Given the description of an element on the screen output the (x, y) to click on. 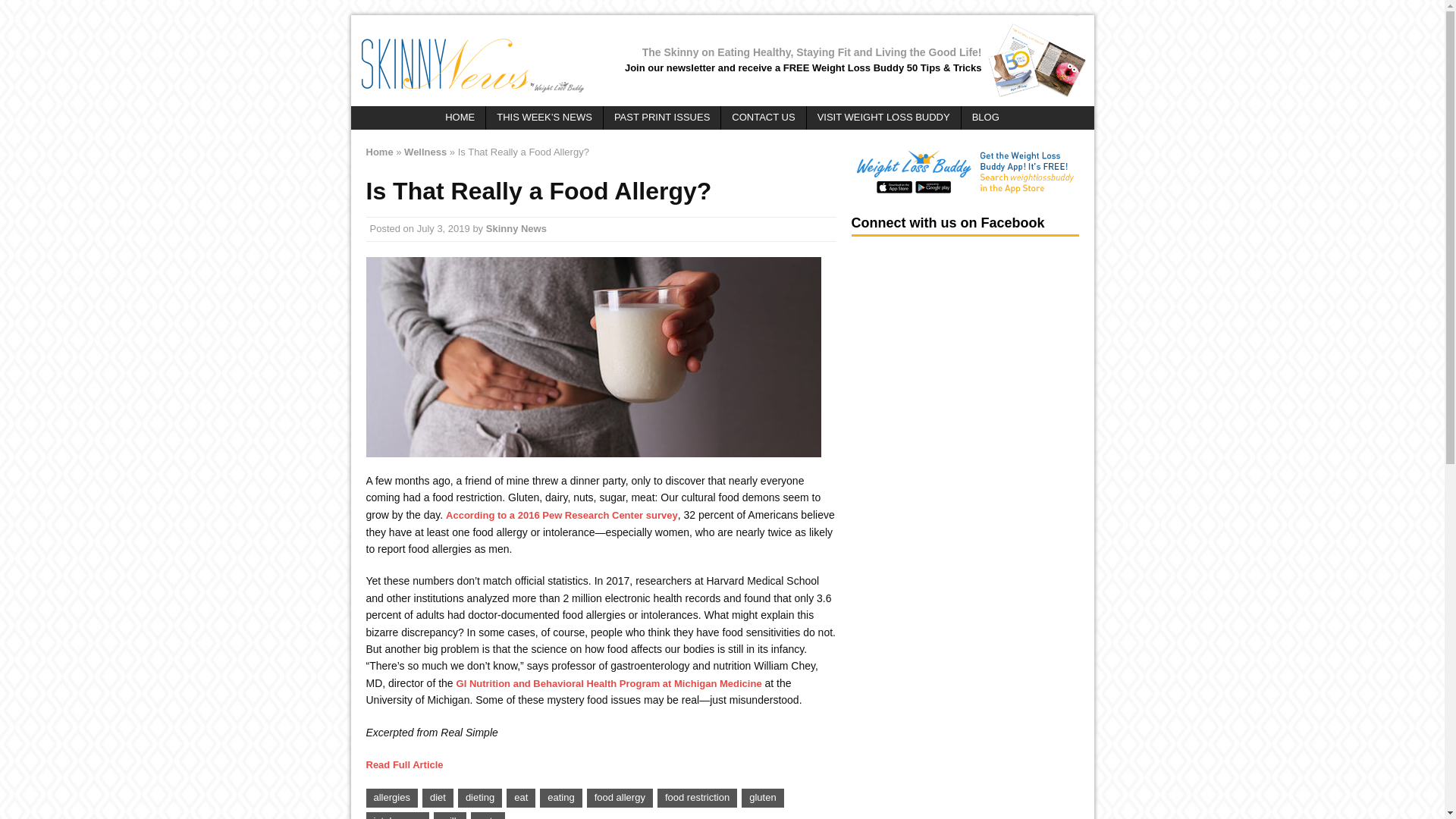
eating (560, 797)
milk (449, 815)
dieting (480, 797)
According to a 2016 Pew Research Center survey (561, 514)
PAST PRINT ISSUES (662, 117)
CONTACT US (762, 117)
diet (437, 797)
VISIT WEIGHT LOSS BUDDY (883, 117)
food allergy (619, 797)
milk stomach (593, 357)
